Given the description of an element on the screen output the (x, y) to click on. 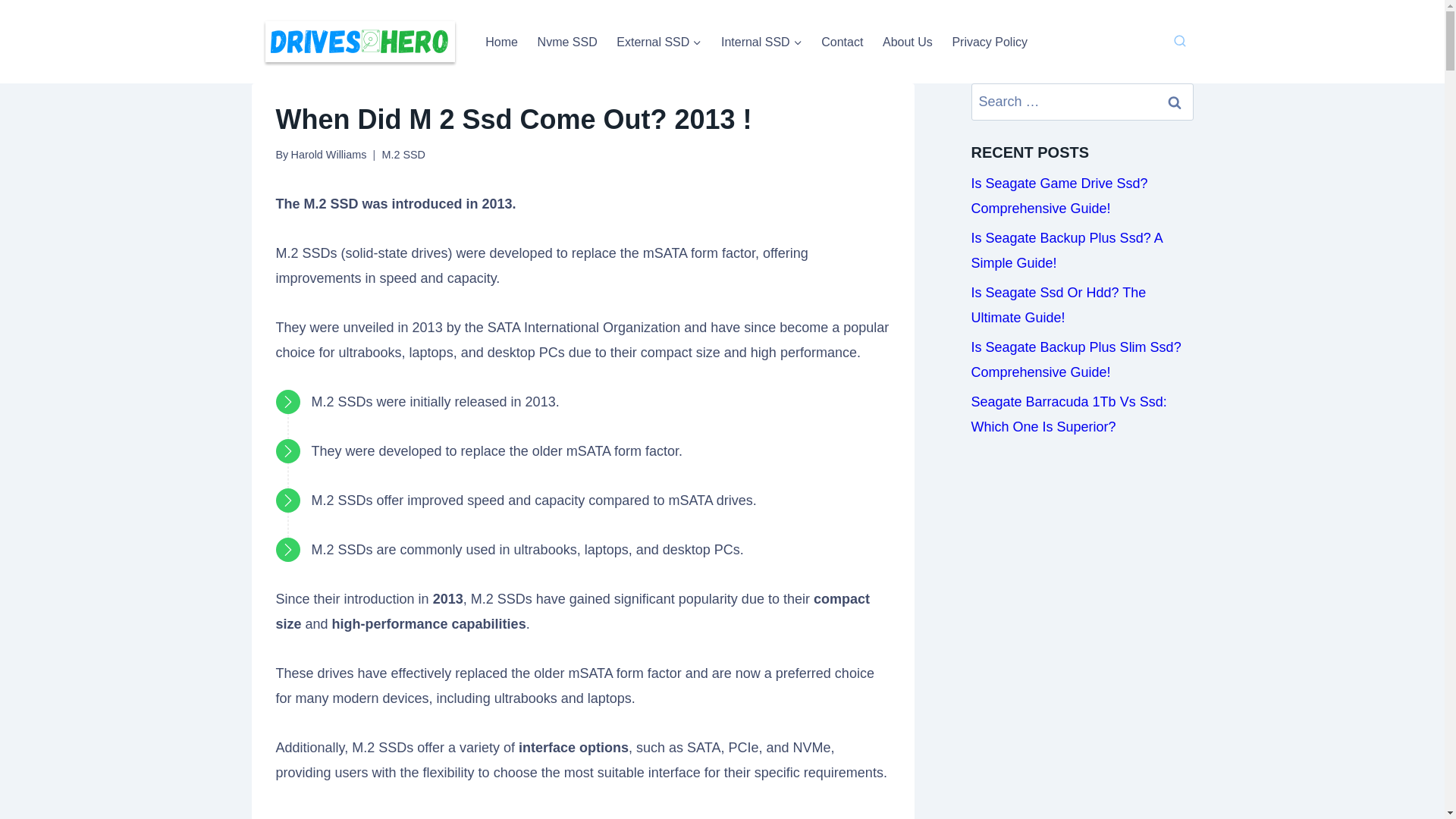
Search (1174, 101)
Harold Williams (327, 154)
About Us (907, 41)
Nvme SSD (567, 41)
Privacy Policy (989, 41)
Internal SSD (760, 41)
Contact (841, 41)
Search (1174, 101)
Home (501, 41)
M.2 SSD (403, 154)
External SSD (659, 41)
